Given the description of an element on the screen output the (x, y) to click on. 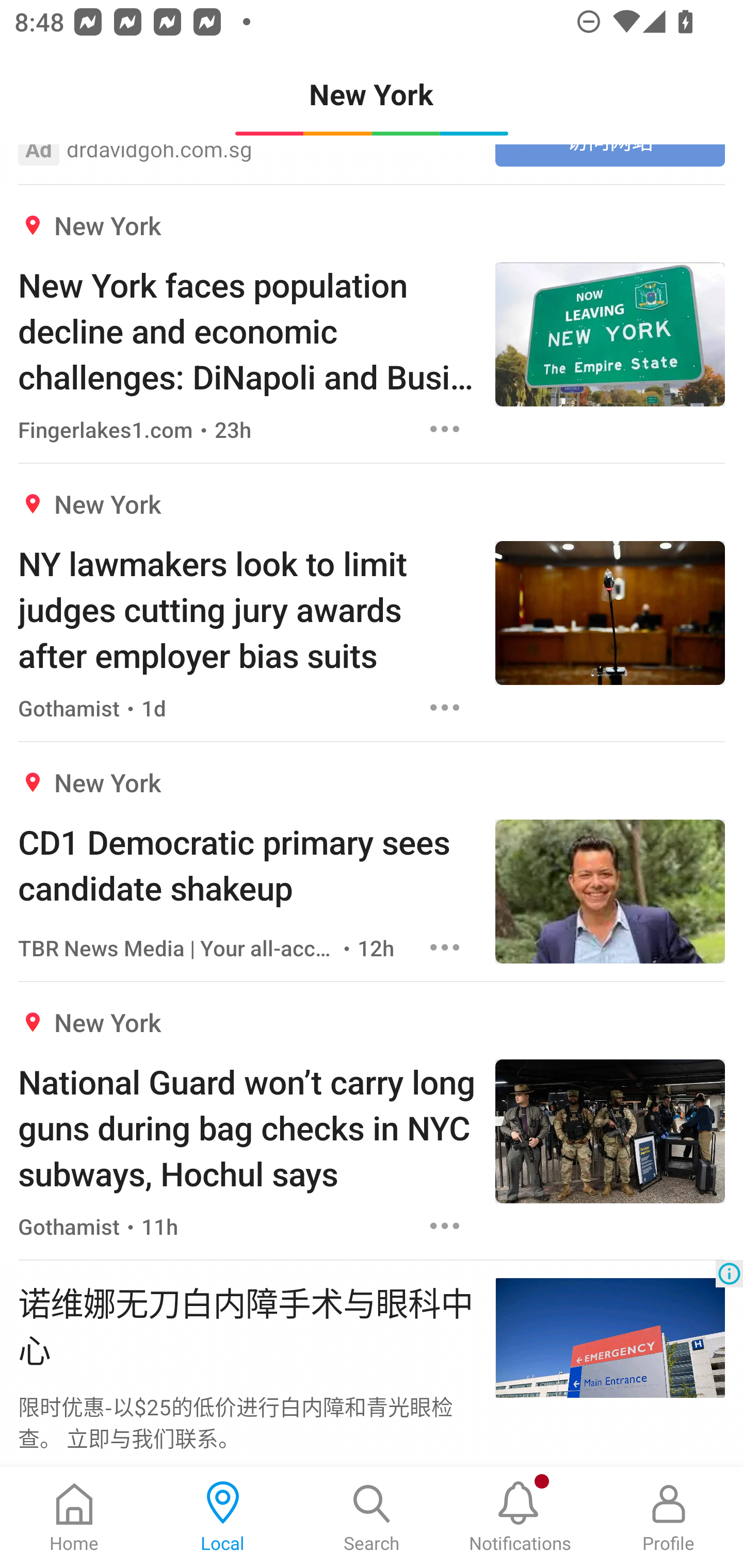
Options (444, 429)
Options (444, 707)
Options (444, 947)
Options (444, 1226)
Ad Choices Icon (729, 1273)
诺维娜无刀白内障手术与眼科中心 (247, 1324)
限时优惠-以$25的低价进行白内障和青光眼检查。 立即与我们联系。 (247, 1421)
Home (74, 1517)
Search (371, 1517)
Notifications, New notification Notifications (519, 1517)
Profile (668, 1517)
